Given the description of an element on the screen output the (x, y) to click on. 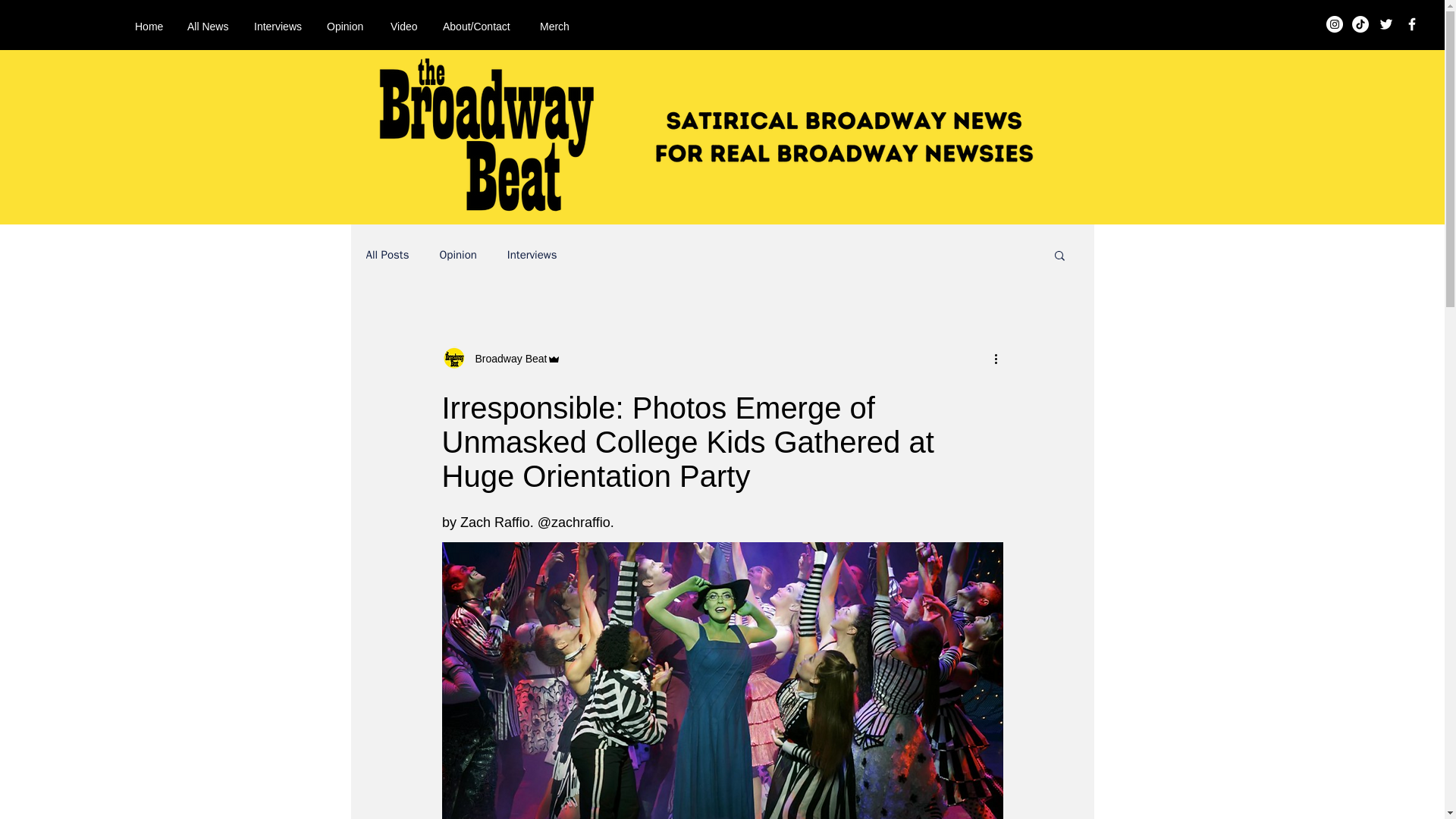
All News (209, 26)
Home (149, 26)
Interviews (531, 254)
Opinion (457, 254)
Opinion (346, 26)
Merch (555, 26)
Broadway Beat (506, 358)
Video (404, 26)
Interviews (279, 26)
All Posts (387, 254)
